Given the description of an element on the screen output the (x, y) to click on. 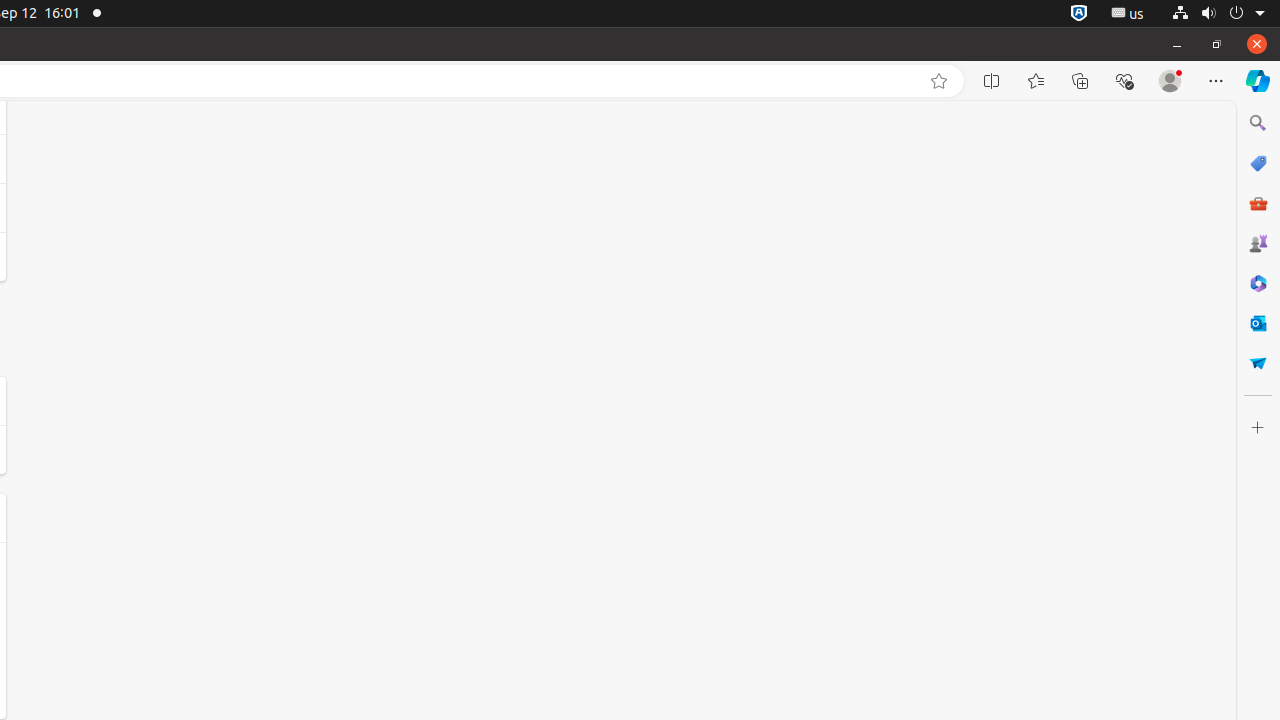
Games Element type: push-button (1258, 243)
Split screen Element type: push-button (992, 81)
Collections Element type: push-button (1080, 81)
Browser essentials Element type: push-button (1124, 81)
